Given the description of an element on the screen output the (x, y) to click on. 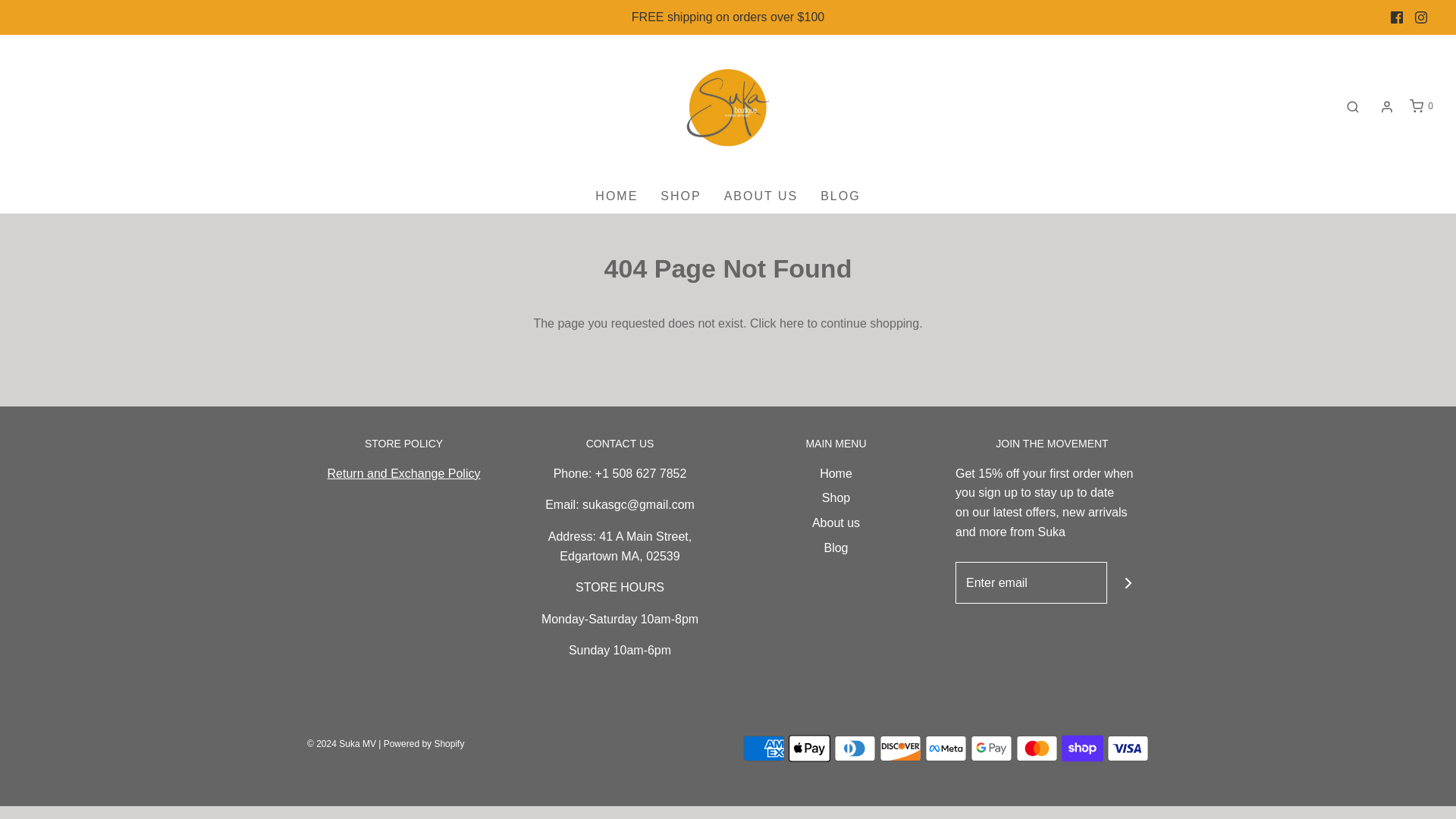
HOME (616, 196)
ABOUT US (760, 196)
Visa (1127, 748)
Log in (1386, 106)
0 (1419, 106)
Facebook icon (1396, 16)
Google Pay (991, 748)
Store Policy (403, 472)
SHOP (680, 196)
Diners Club (855, 748)
American Express (763, 748)
Mastercard (1037, 748)
Shop Pay (1082, 748)
Cart (1419, 106)
Facebook icon (1396, 17)
